Given the description of an element on the screen output the (x, y) to click on. 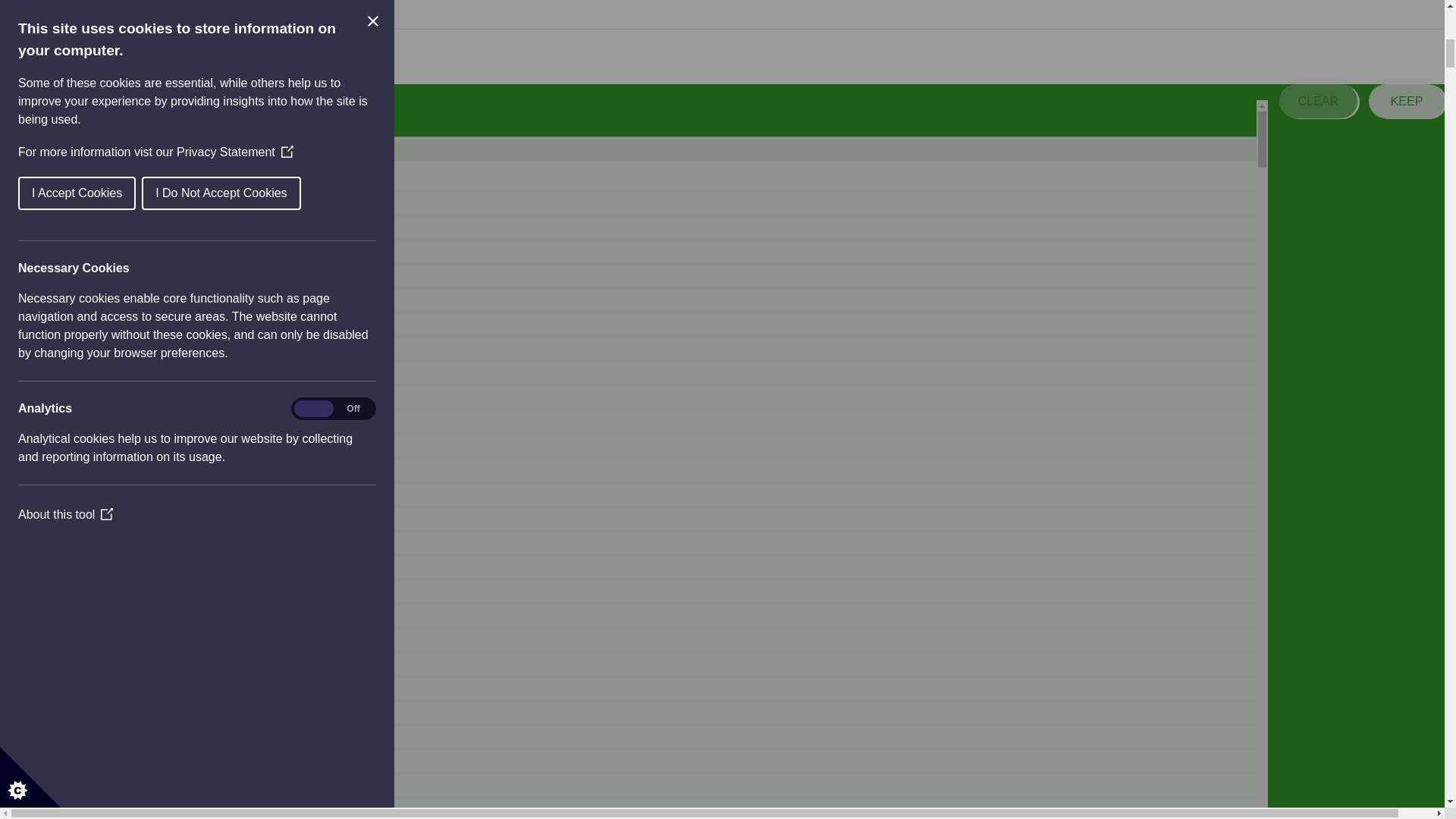
KEEP (1406, 100)
VEGETABLE SEEDS (643, 124)
BRUSSELS SPROUT (659, 396)
AUBERGINE (659, 251)
BEANS (659, 300)
ARTICHOKE (659, 202)
CABBAGE (659, 421)
BEETROOT (659, 324)
CALABRESE (659, 445)
VEGETABLE SEEDS (643, 152)
CLEAR (1317, 100)
CARDOON (659, 469)
BORECOLE (659, 348)
ANCIENT GRAINS (659, 178)
ASPARAGUS (659, 227)
